Given the description of an element on the screen output the (x, y) to click on. 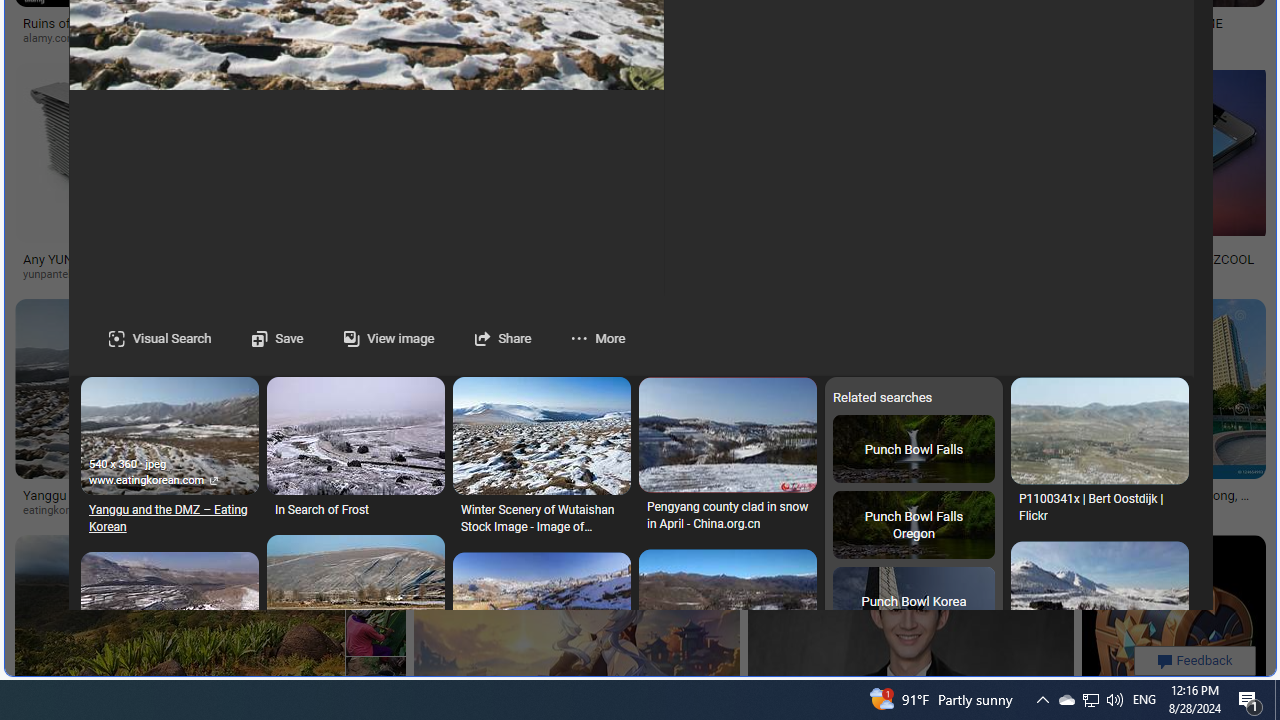
GYUING (790, 494)
GYUINGmarpple.shopSave (908, 412)
Punch Bowl Falls (913, 448)
iwin-fins.com (640, 274)
Share (482, 338)
Punch Bowl Korea (913, 601)
GYUING (903, 494)
